Given the description of an element on the screen output the (x, y) to click on. 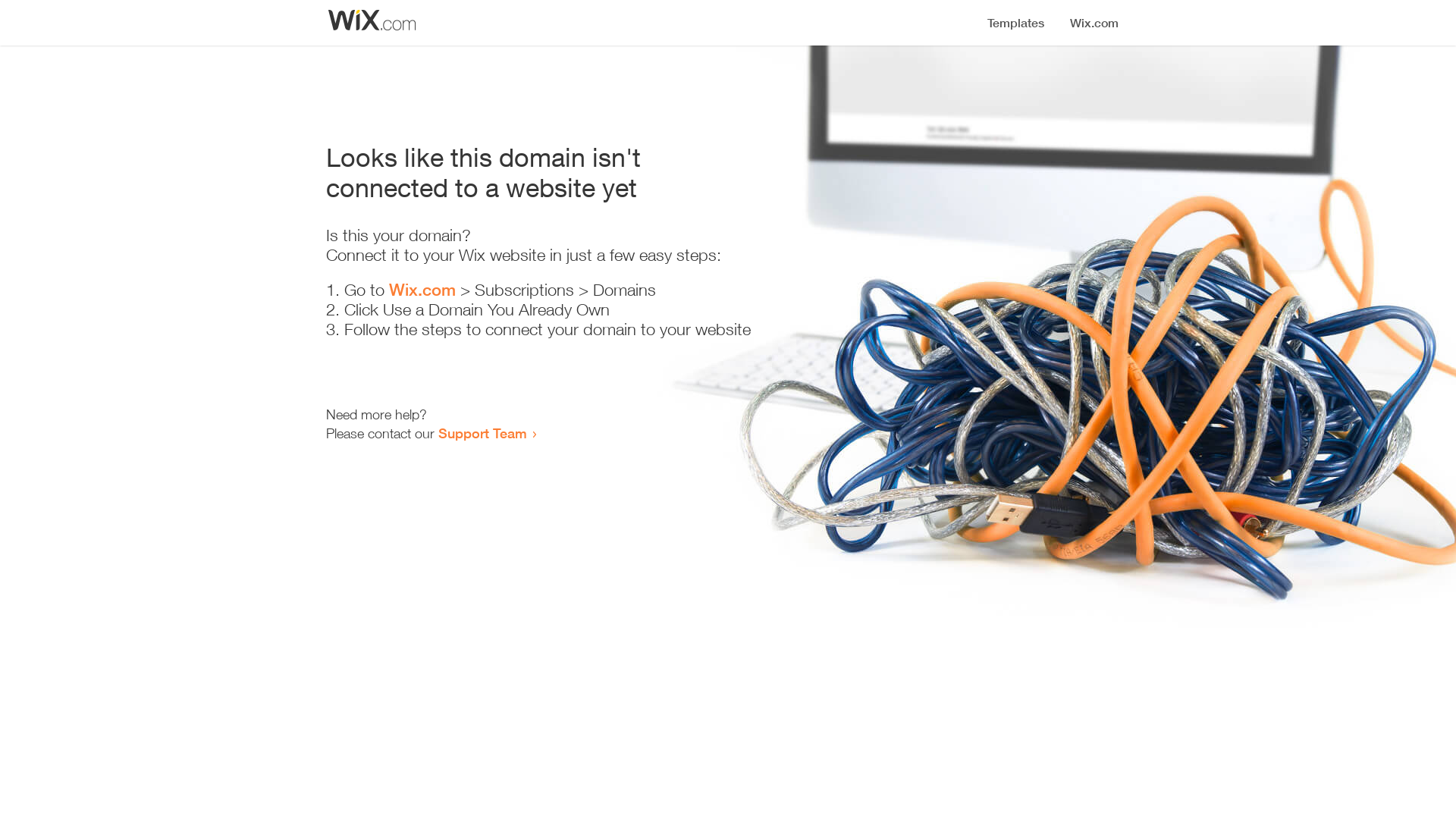
Wix.com Element type: text (422, 289)
Support Team Element type: text (482, 432)
